Given the description of an element on the screen output the (x, y) to click on. 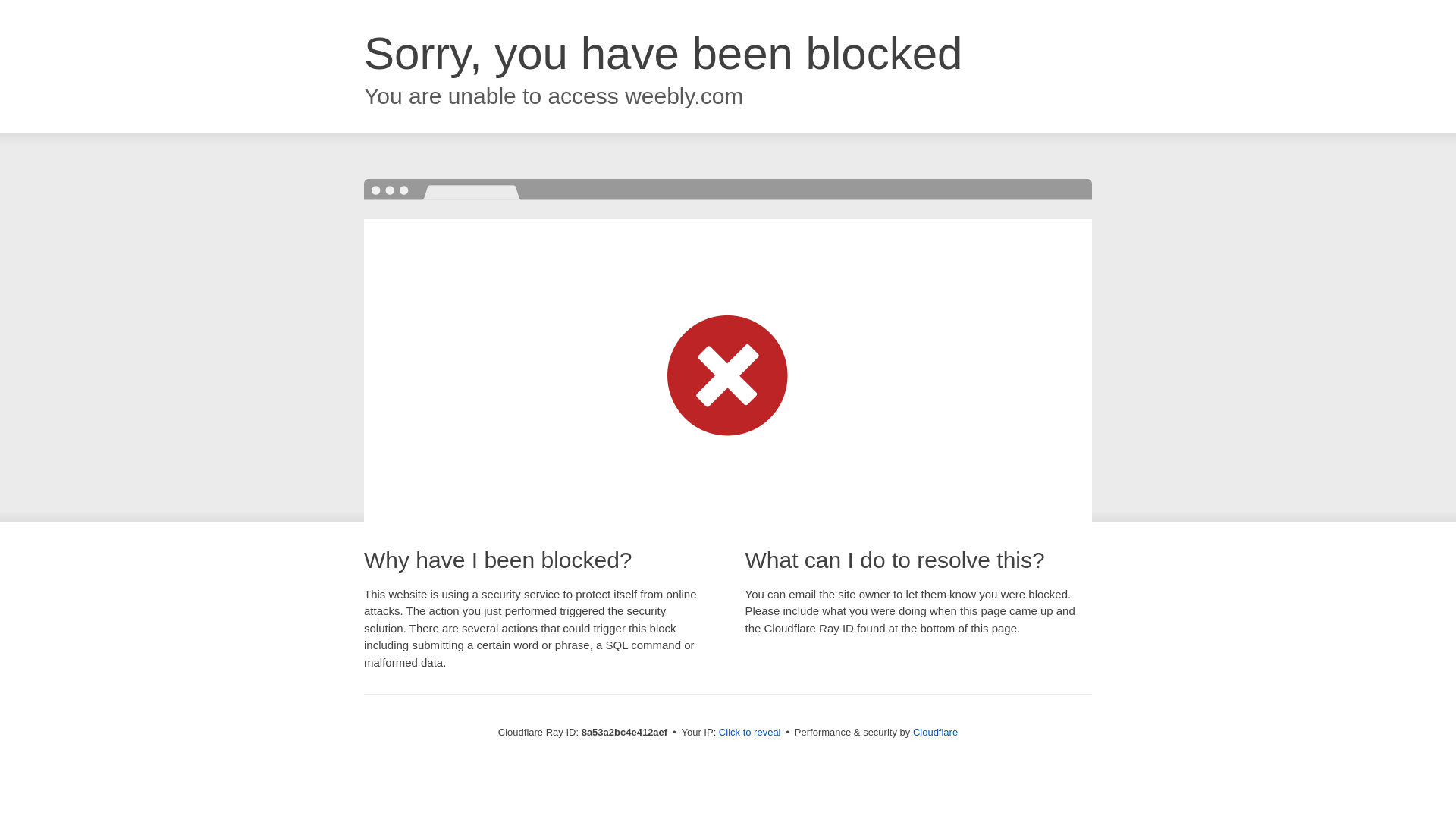
Cloudflare (935, 731)
Click to reveal (749, 732)
